Given the description of an element on the screen output the (x, y) to click on. 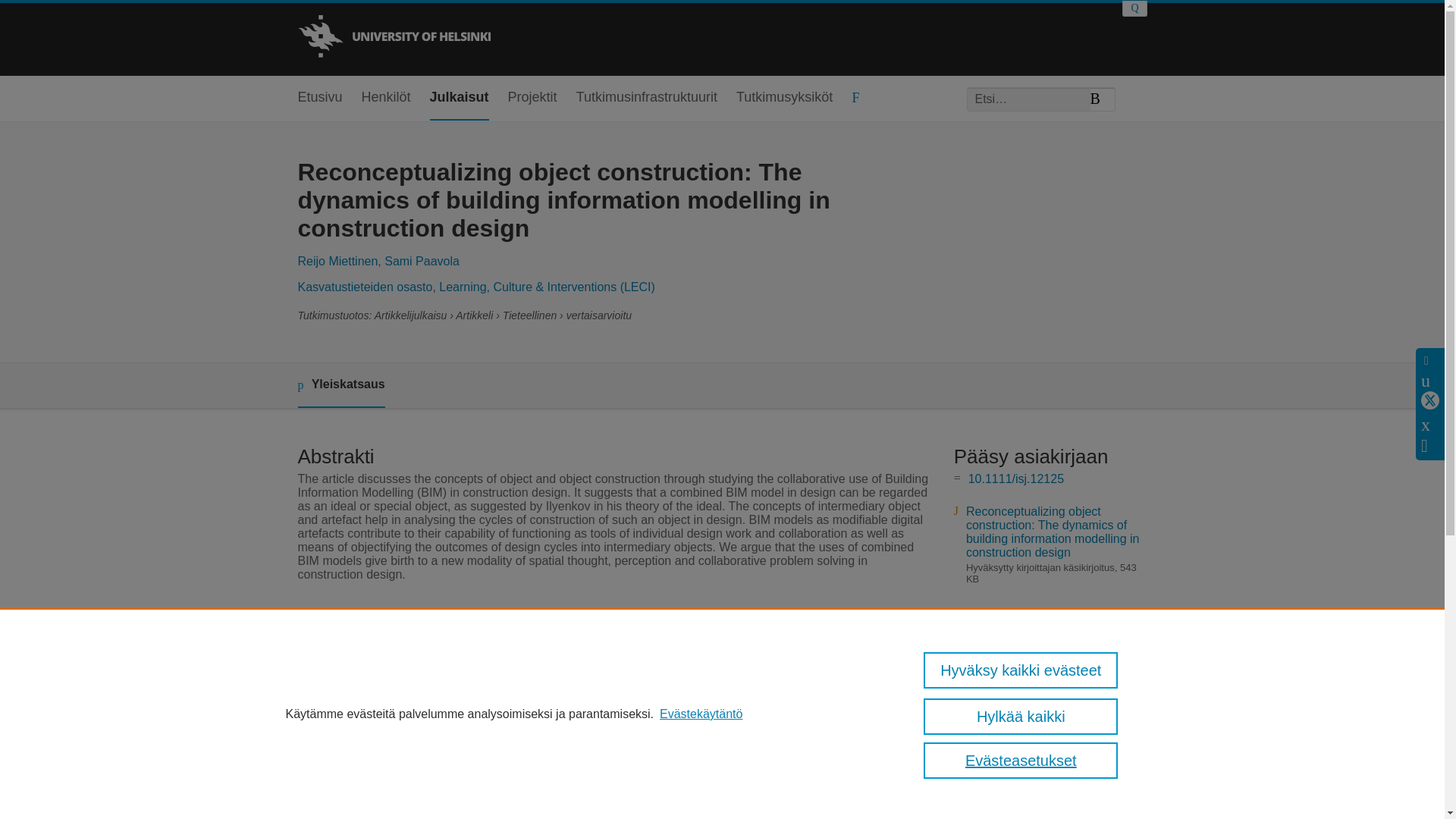
Yleiskatsaus (340, 385)
Reijo Miettinen (337, 260)
Tutkimusinfrastruktuurit (646, 98)
Projektit (532, 98)
Information Systems Journal (585, 630)
Etusivu (319, 98)
Helsingin yliopisto Etusivu (393, 37)
Julkaisut (459, 98)
Sami Paavola (422, 260)
